Given the description of an element on the screen output the (x, y) to click on. 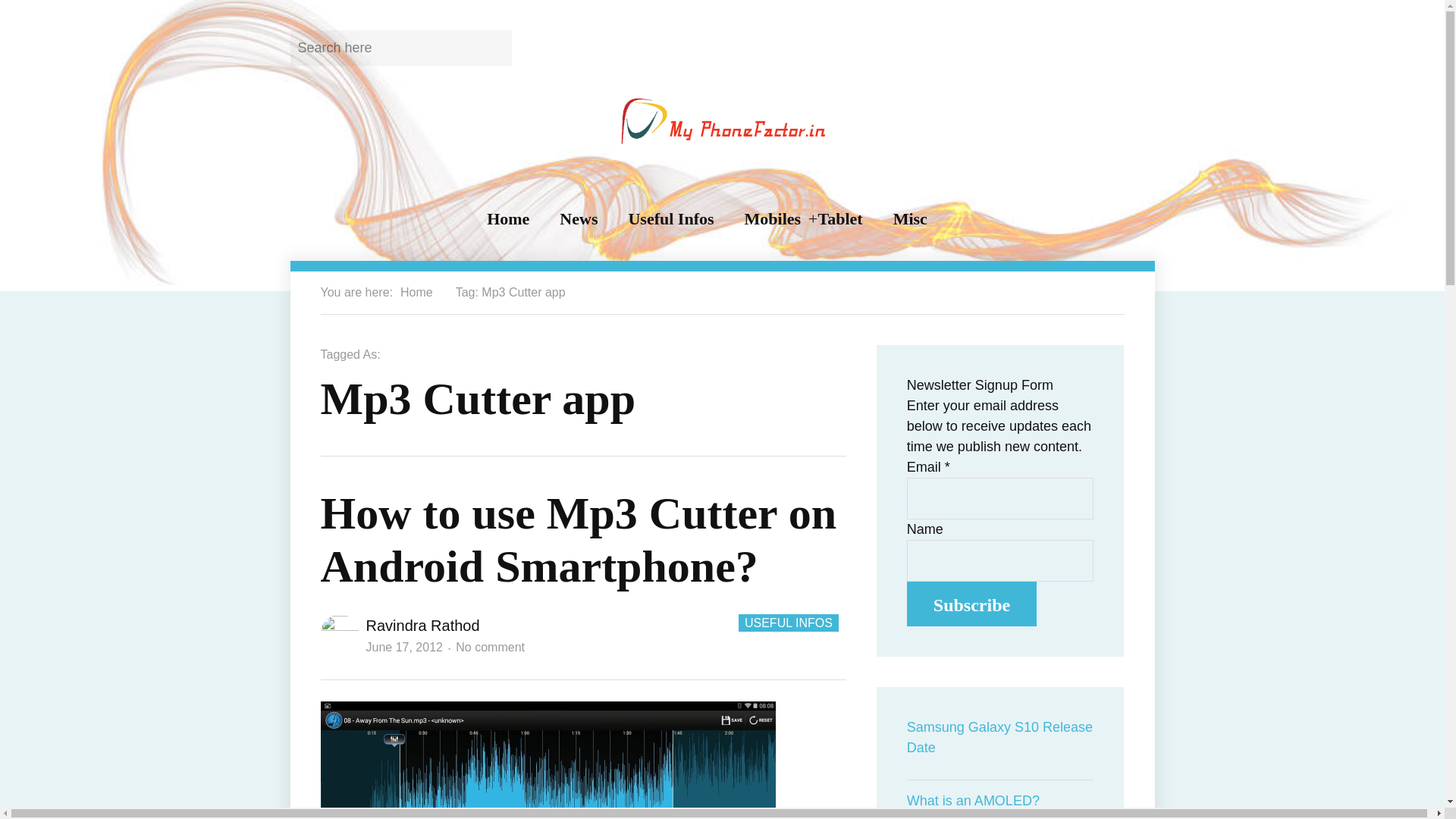
USEFUL INFOS (489, 646)
June 17, 2012 (788, 622)
How to use Mp3 Cutter on Android Smartphone? (403, 646)
Mobiles (577, 539)
Tablet (781, 219)
Subscribe (840, 219)
Ravindra Rathod (971, 603)
Samsung Galaxy S10 Release Date (422, 625)
Home (1000, 737)
